Given the description of an element on the screen output the (x, y) to click on. 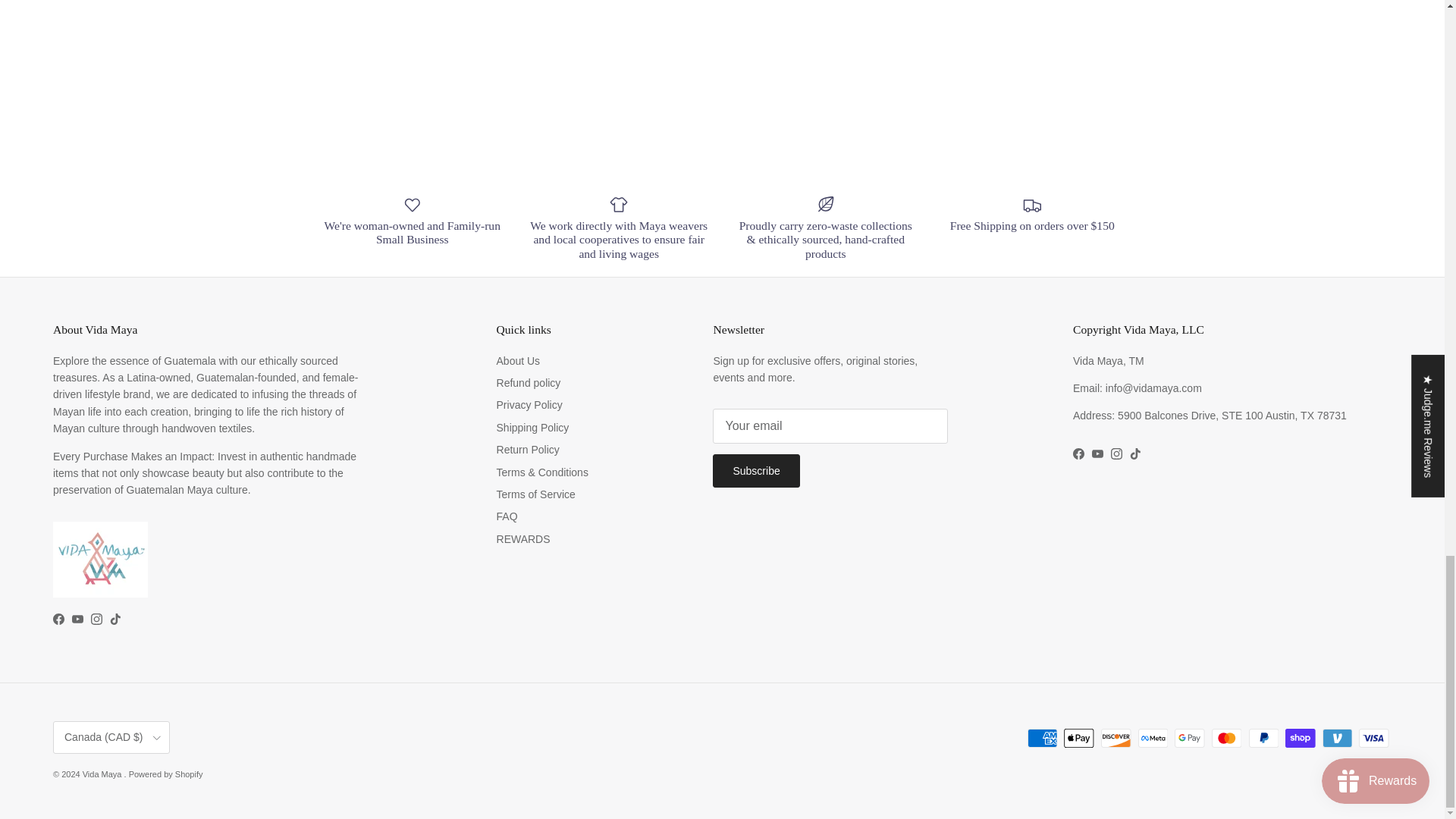
Vida Maya  on Instagram (95, 618)
Vida Maya  on Facebook (58, 618)
Vida Maya  on Instagram (1116, 453)
Vida Maya  on Facebook (1078, 453)
Vida Maya  on TikTok (115, 618)
Vida Maya  on YouTube (76, 618)
Vida Maya  on YouTube (1097, 453)
